Given the description of an element on the screen output the (x, y) to click on. 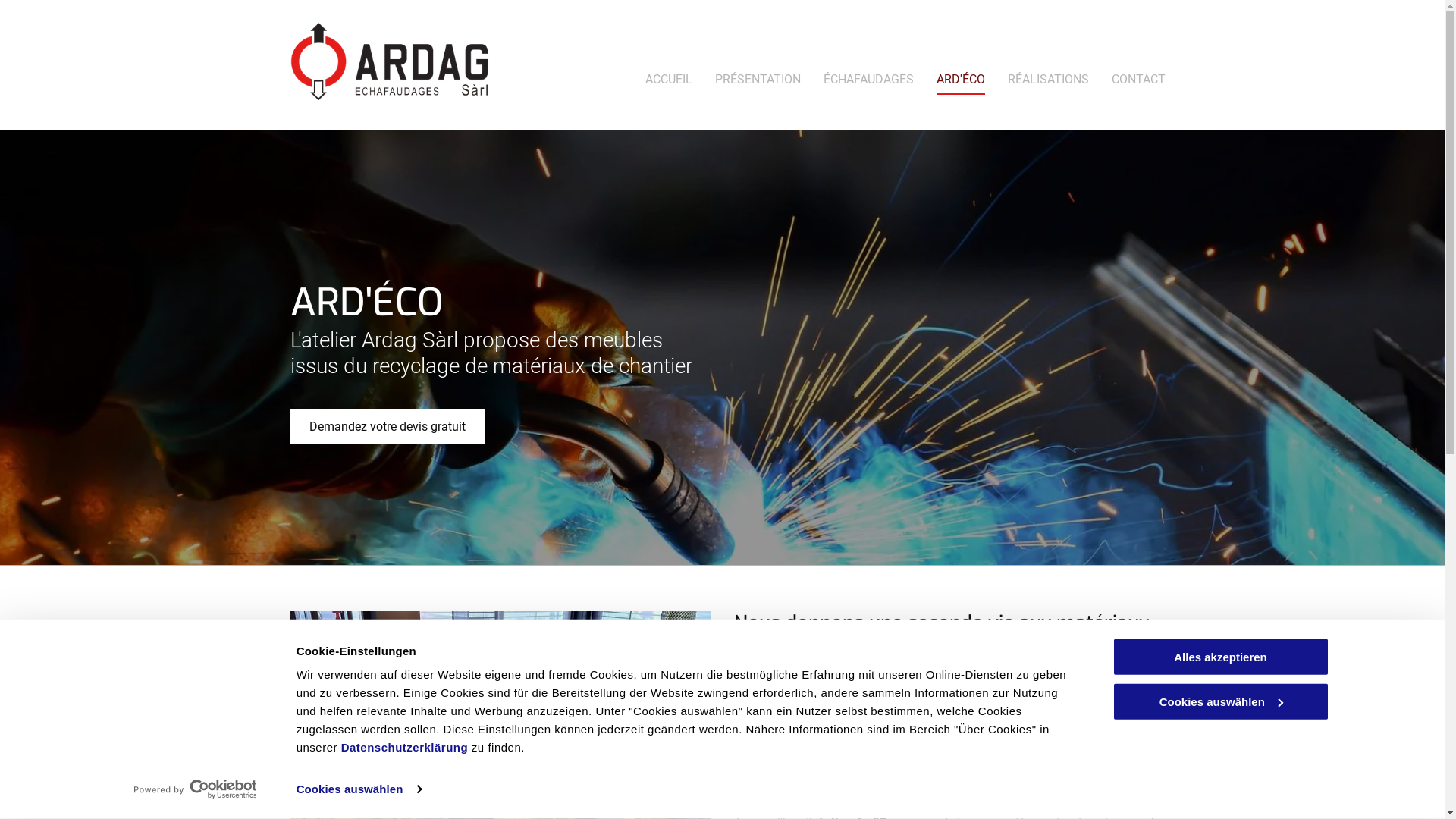
CONTACT Element type: text (1138, 76)
Alles akzeptieren Element type: text (1219, 656)
Demandez votre devis gratuit Element type: text (386, 425)
ACCUEIL Element type: text (668, 76)
